Given the description of an element on the screen output the (x, y) to click on. 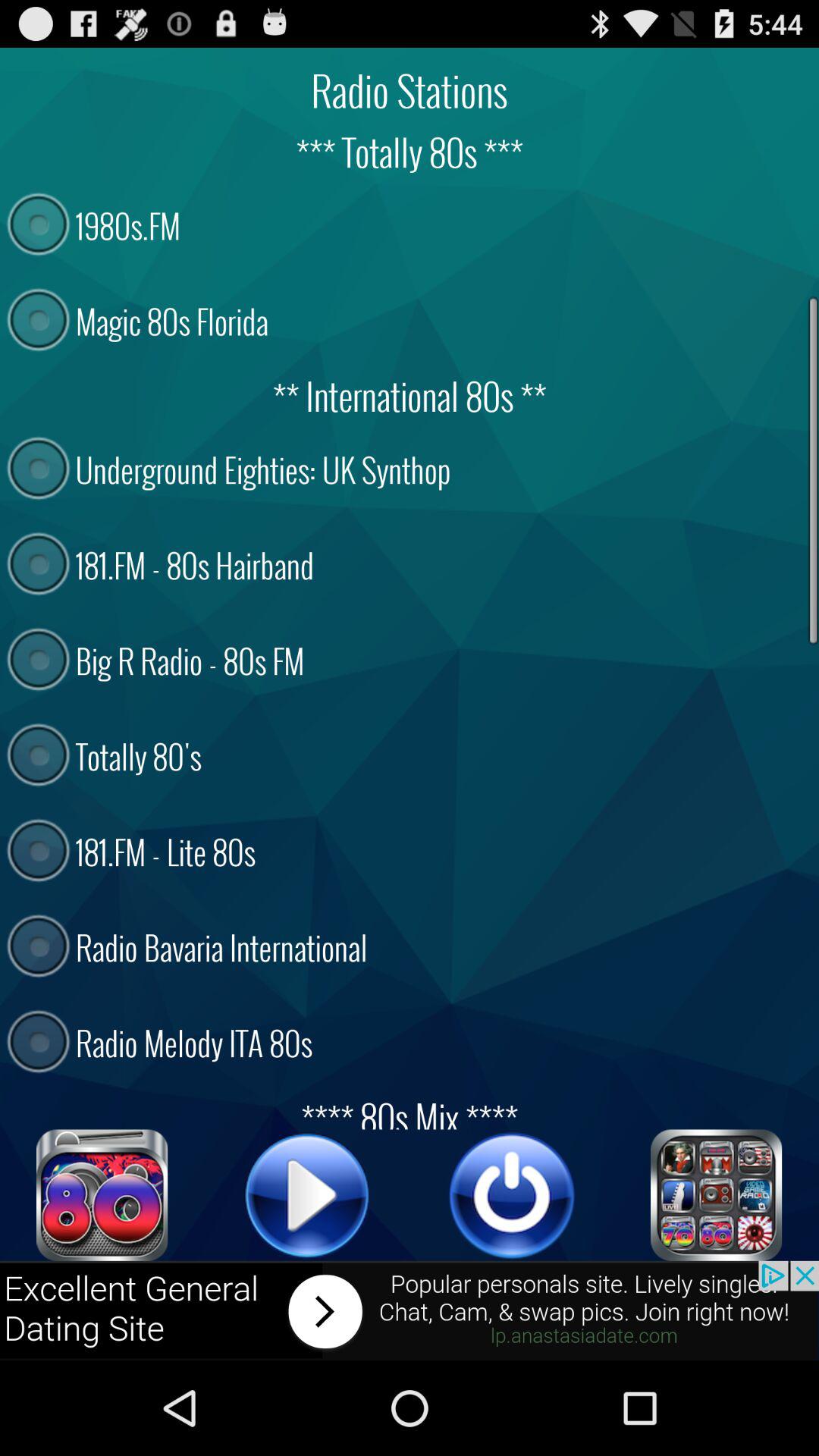
click on advertisement (409, 1310)
